Given the description of an element on the screen output the (x, y) to click on. 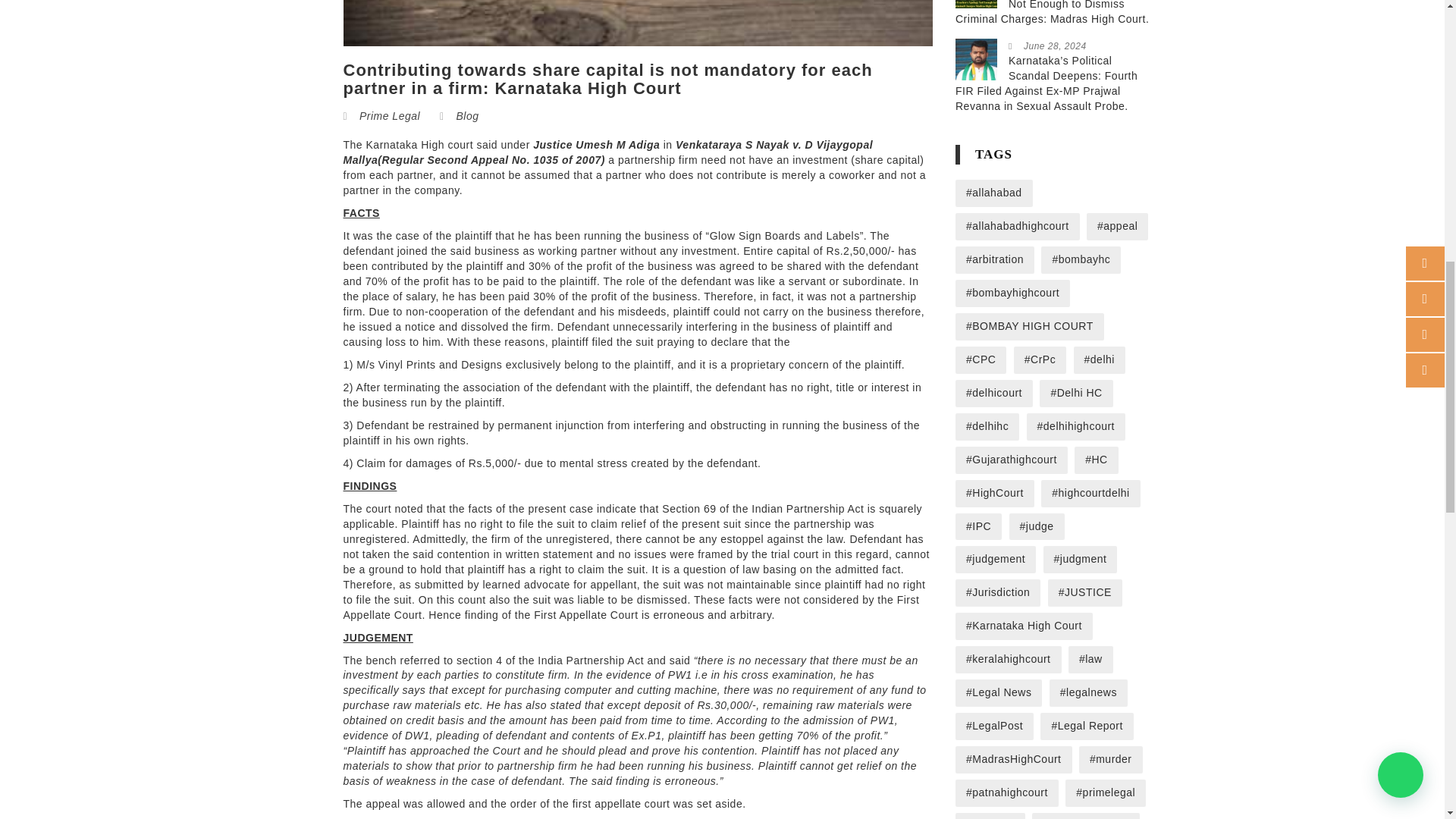
View all posts by Prime Legal (389, 115)
Prime Legal (389, 115)
Blog (467, 115)
